Given the description of an element on the screen output the (x, y) to click on. 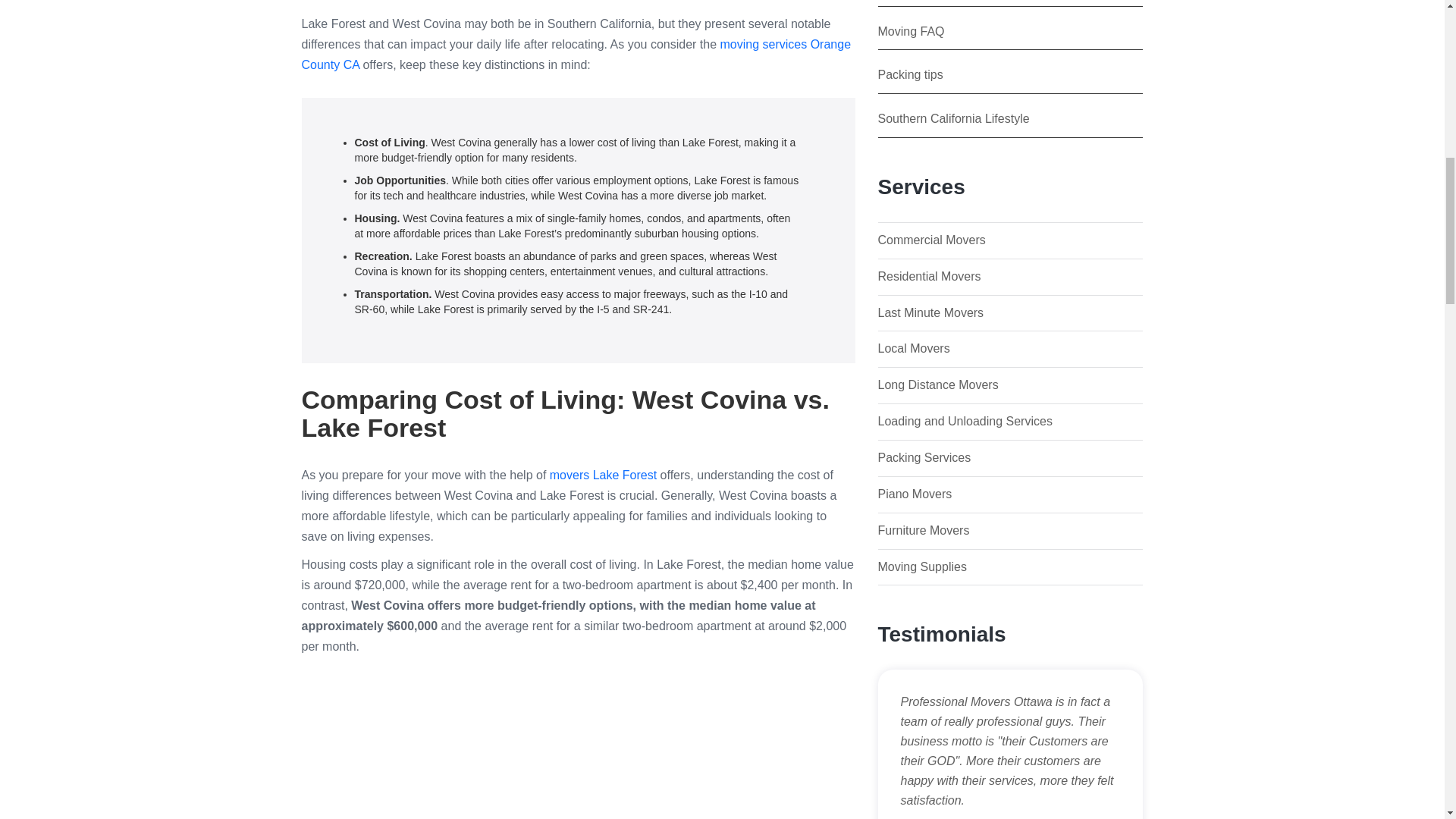
Moving FAQ (910, 31)
movers Lake Forest (603, 474)
Packing tips (910, 74)
moving services Orange County CA (576, 54)
